Given the description of an element on the screen output the (x, y) to click on. 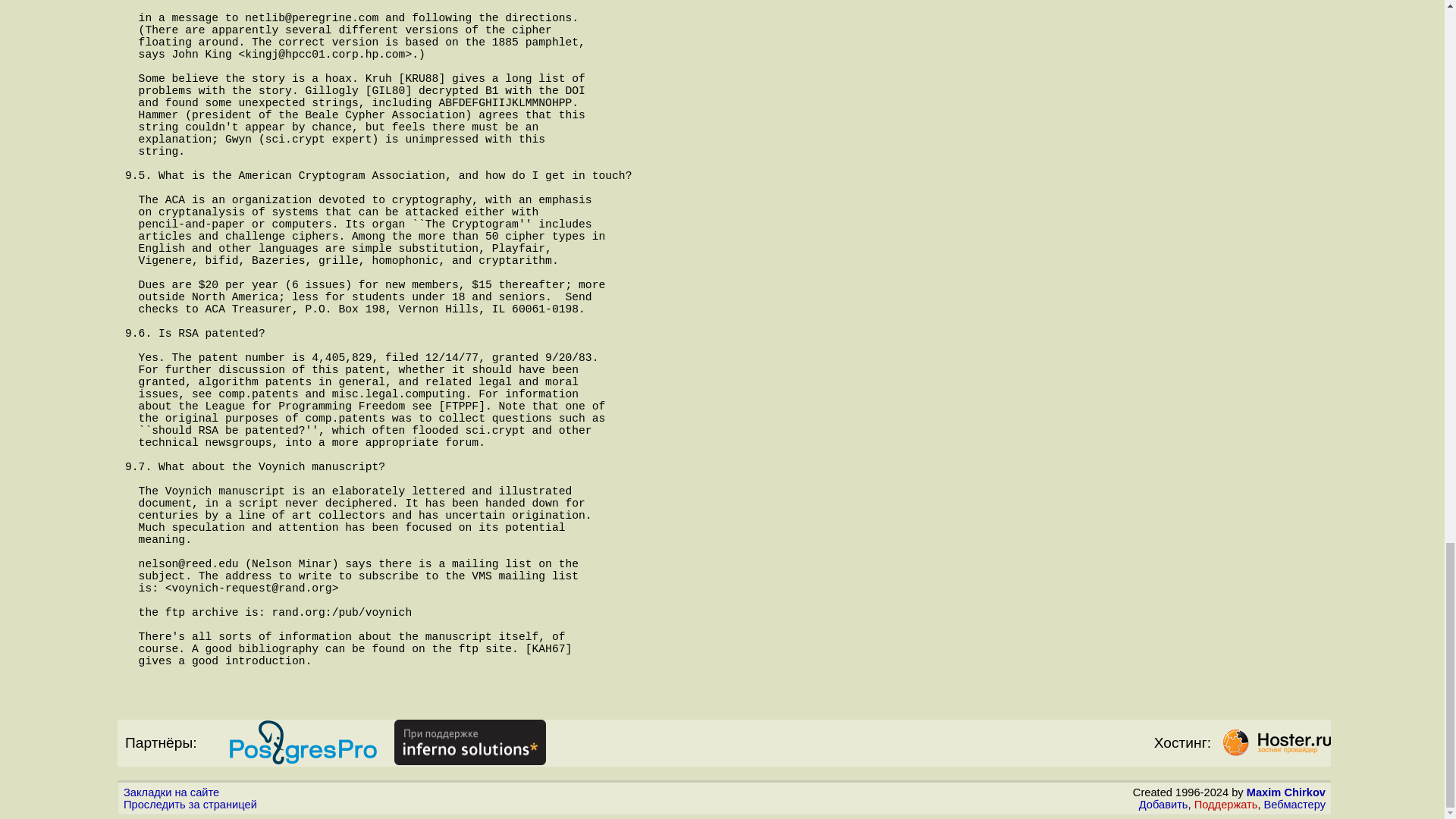
Maxim Chirkov (1285, 792)
